Given the description of an element on the screen output the (x, y) to click on. 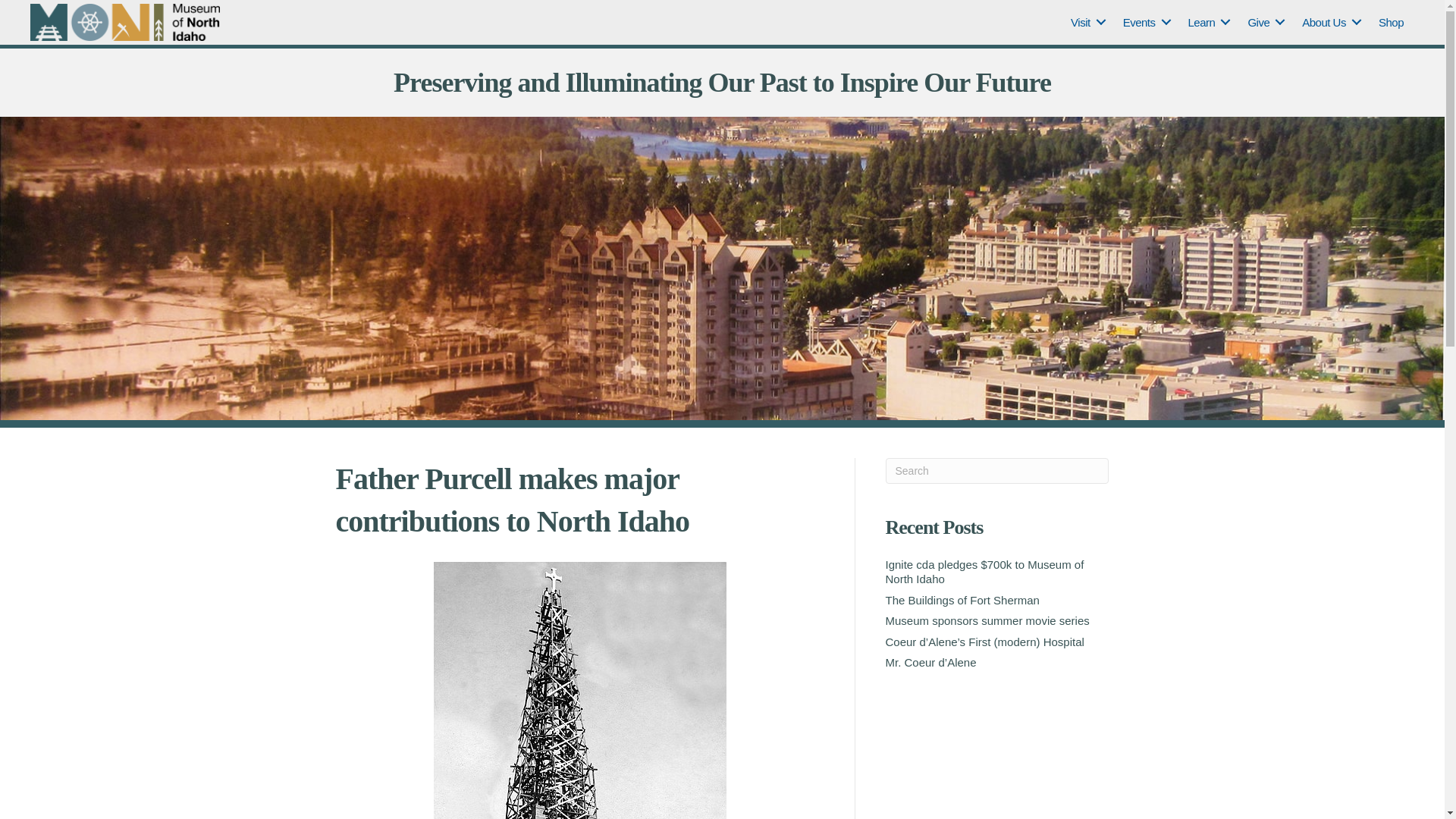
Learn (1206, 22)
Events (1144, 22)
Give (1263, 22)
About Us (1329, 22)
Type and press Enter to search. (997, 470)
Shop (1390, 22)
Museum sponsors summer movie series (987, 620)
Visit (1085, 22)
The Buildings of Fort Sherman (962, 599)
